Given the description of an element on the screen output the (x, y) to click on. 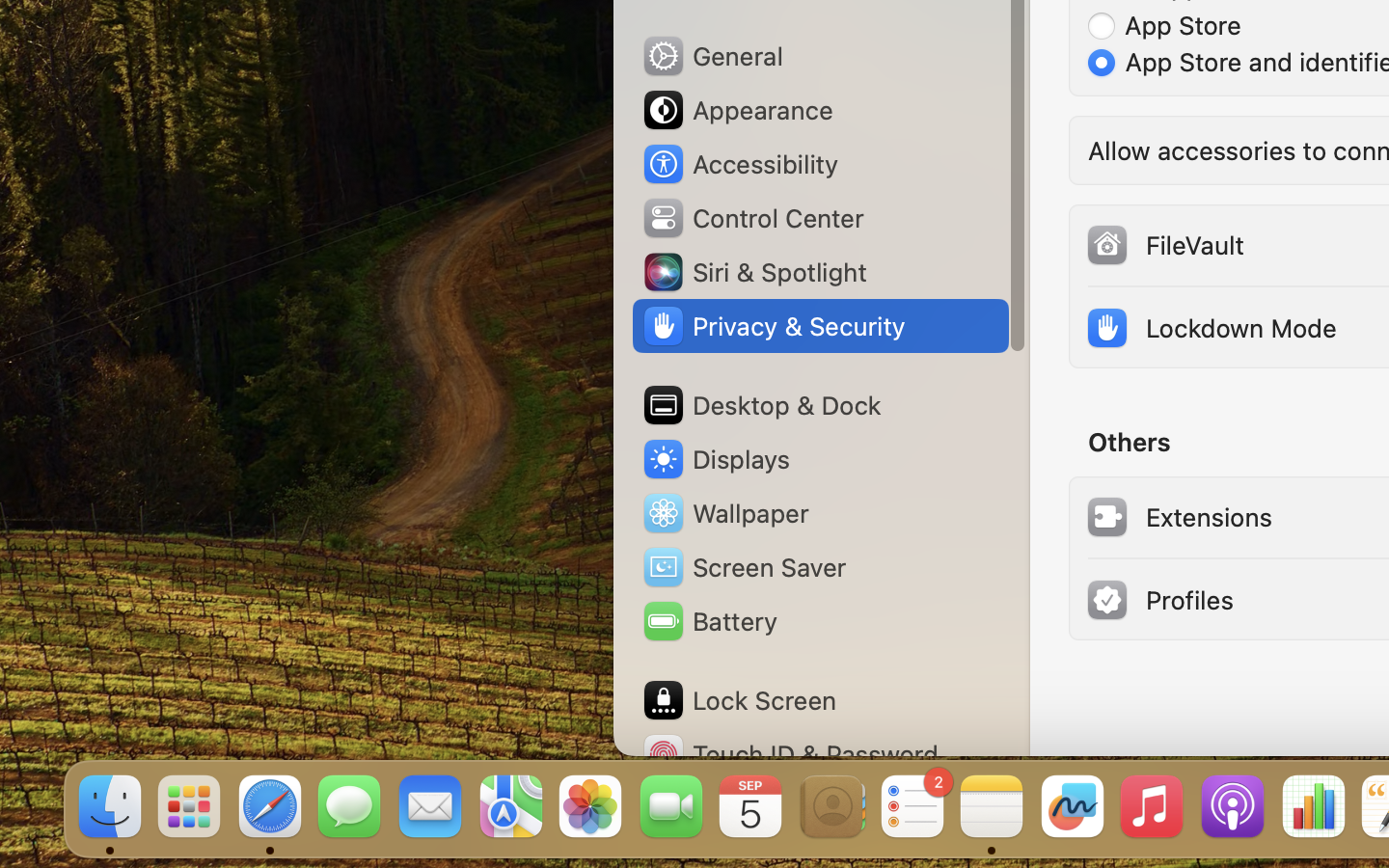
Control Center Element type: AXStaticText (752, 217)
Displays Element type: AXStaticText (715, 458)
Wallpaper Element type: AXStaticText (724, 512)
Appearance Element type: AXStaticText (736, 109)
